Given the description of an element on the screen output the (x, y) to click on. 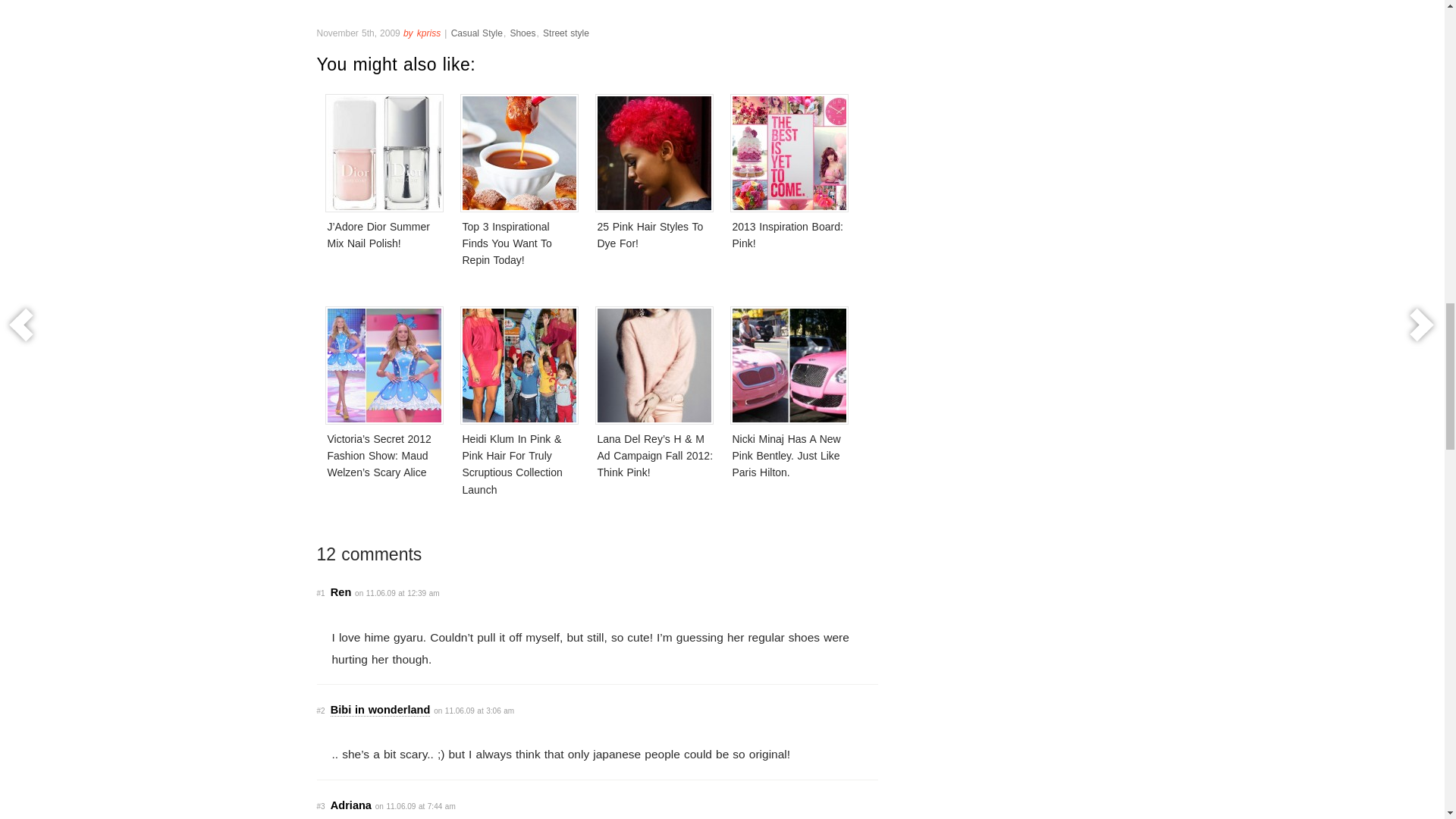
Permalink to this comment (320, 710)
kpriss (429, 33)
Casual Style (476, 33)
Permalink to this comment (320, 806)
Street style (565, 33)
Permalink to this comment (320, 592)
Shoes (521, 33)
Bibi in wonderland (380, 709)
